Given the description of an element on the screen output the (x, y) to click on. 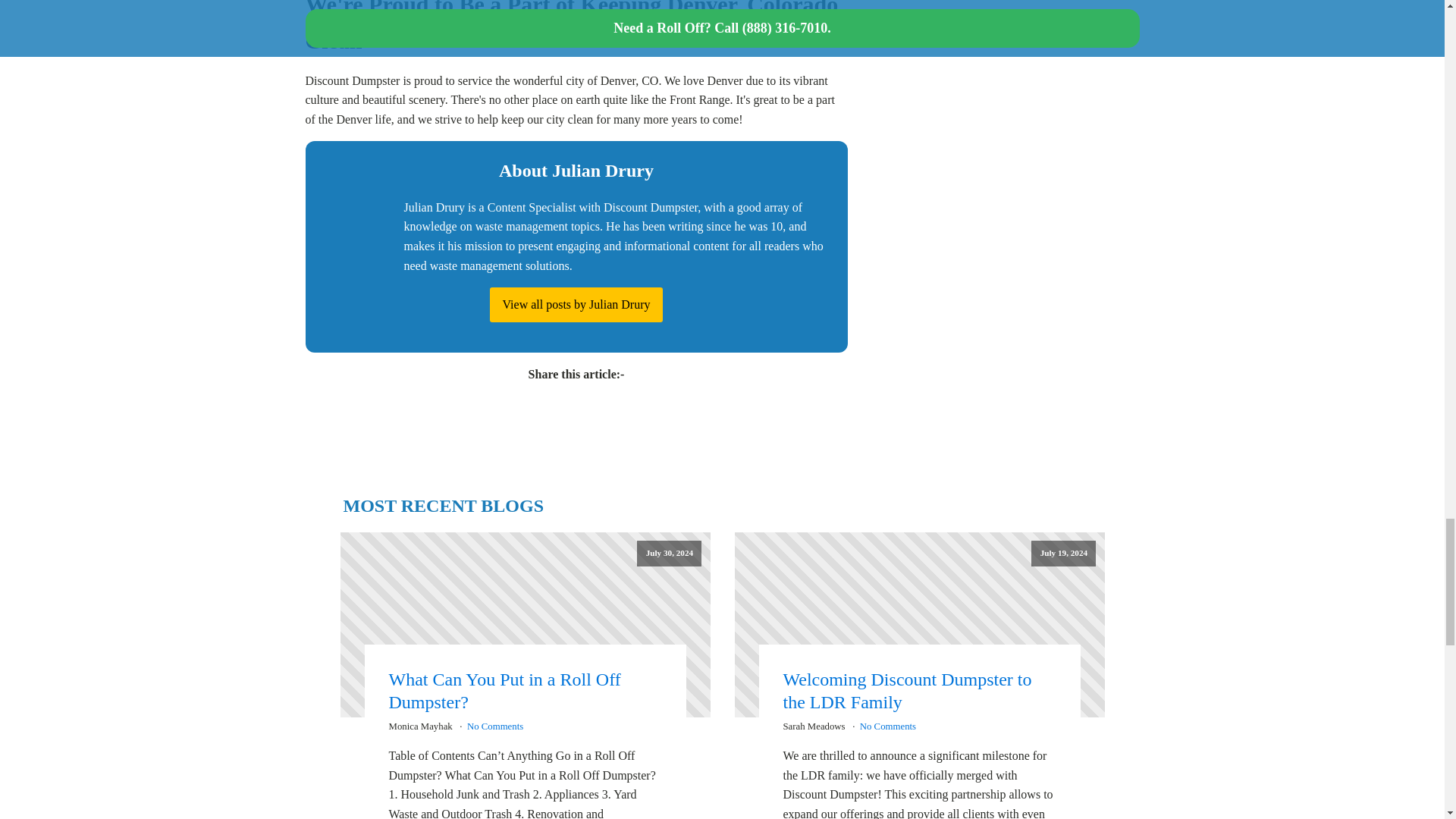
View all posts by Julian Drury (575, 304)
